Given the description of an element on the screen output the (x, y) to click on. 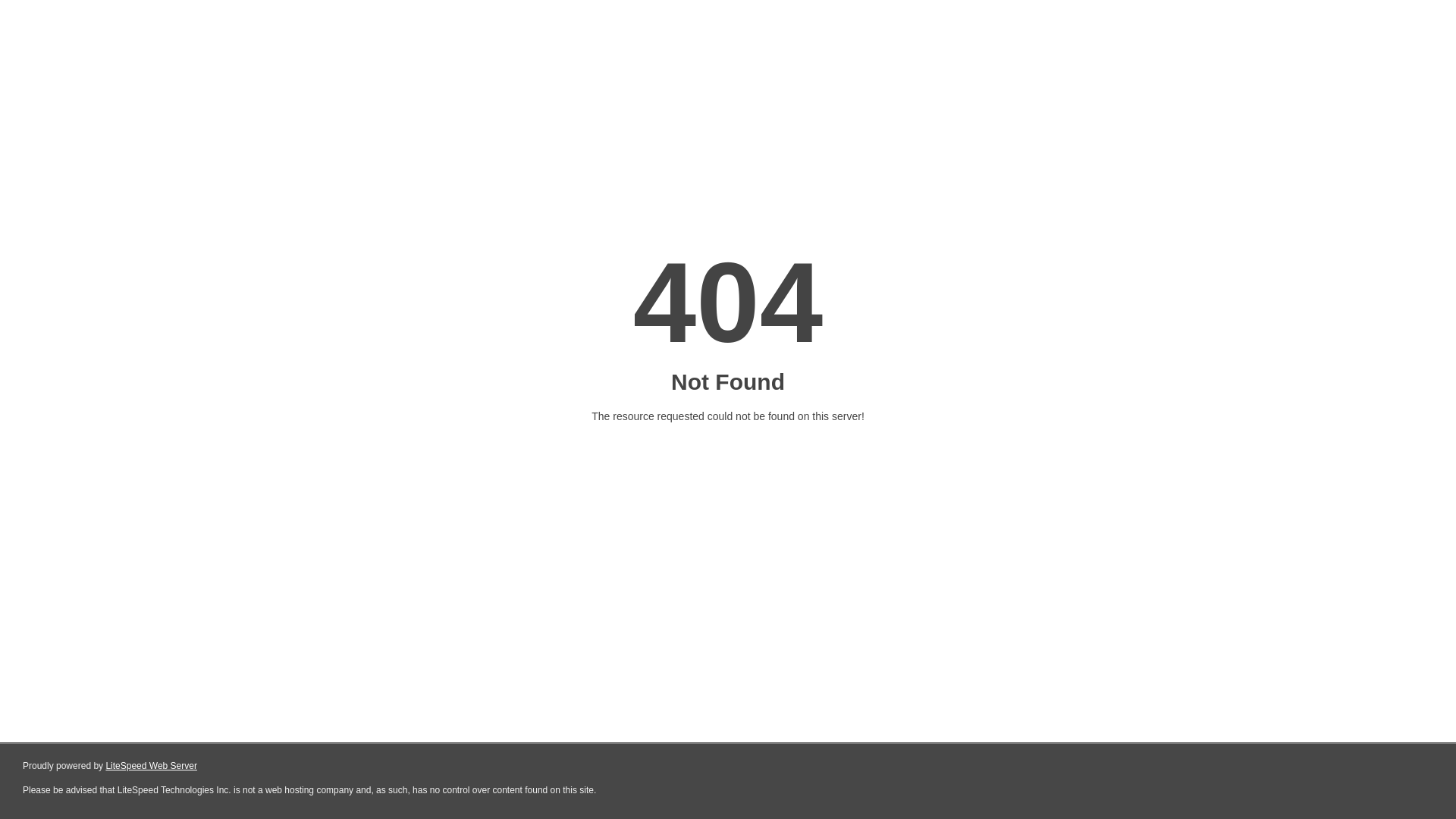
LiteSpeed Web Server Element type: text (151, 765)
